Given the description of an element on the screen output the (x, y) to click on. 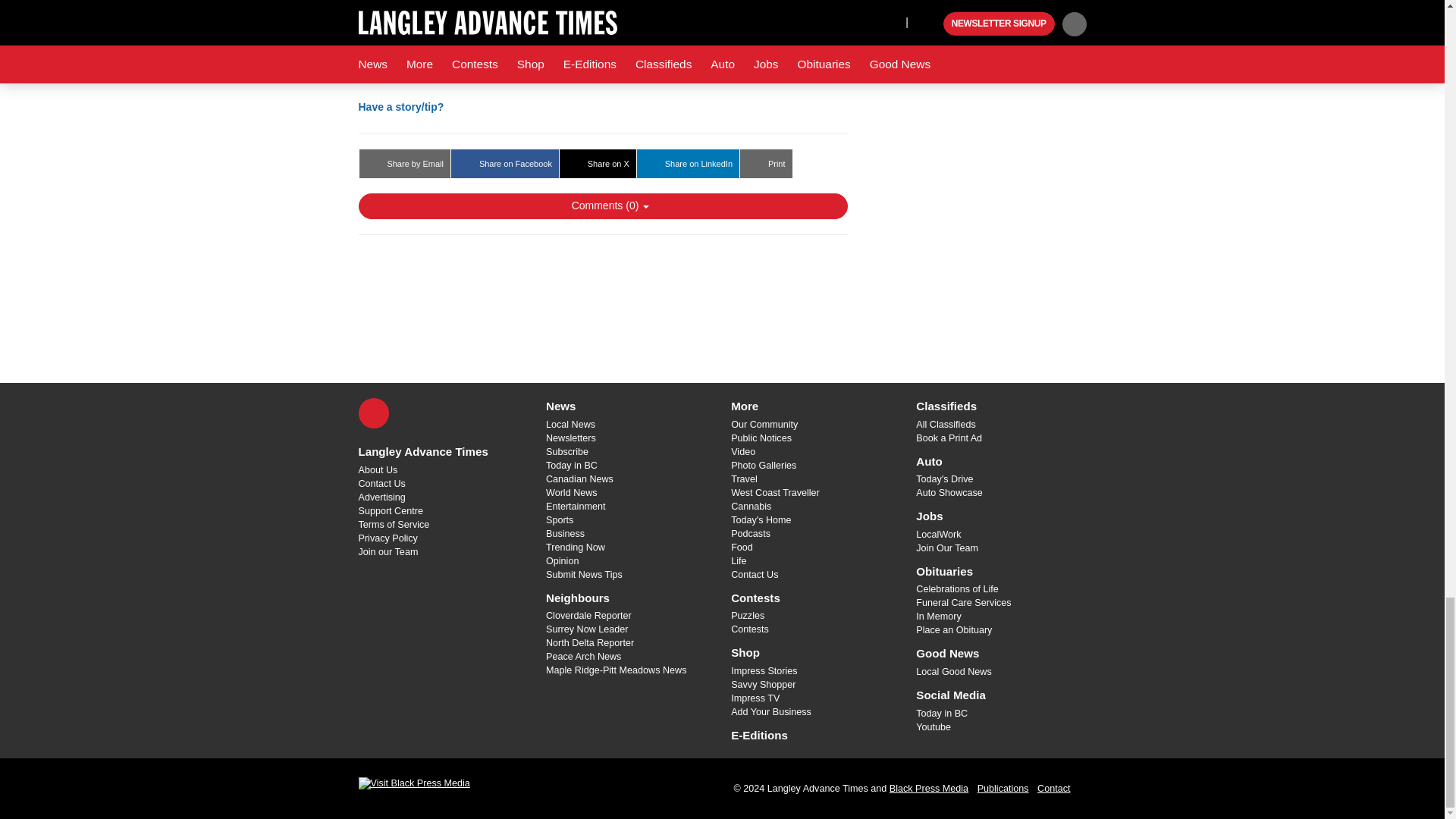
Show Comments (602, 206)
X (373, 413)
